Given the description of an element on the screen output the (x, y) to click on. 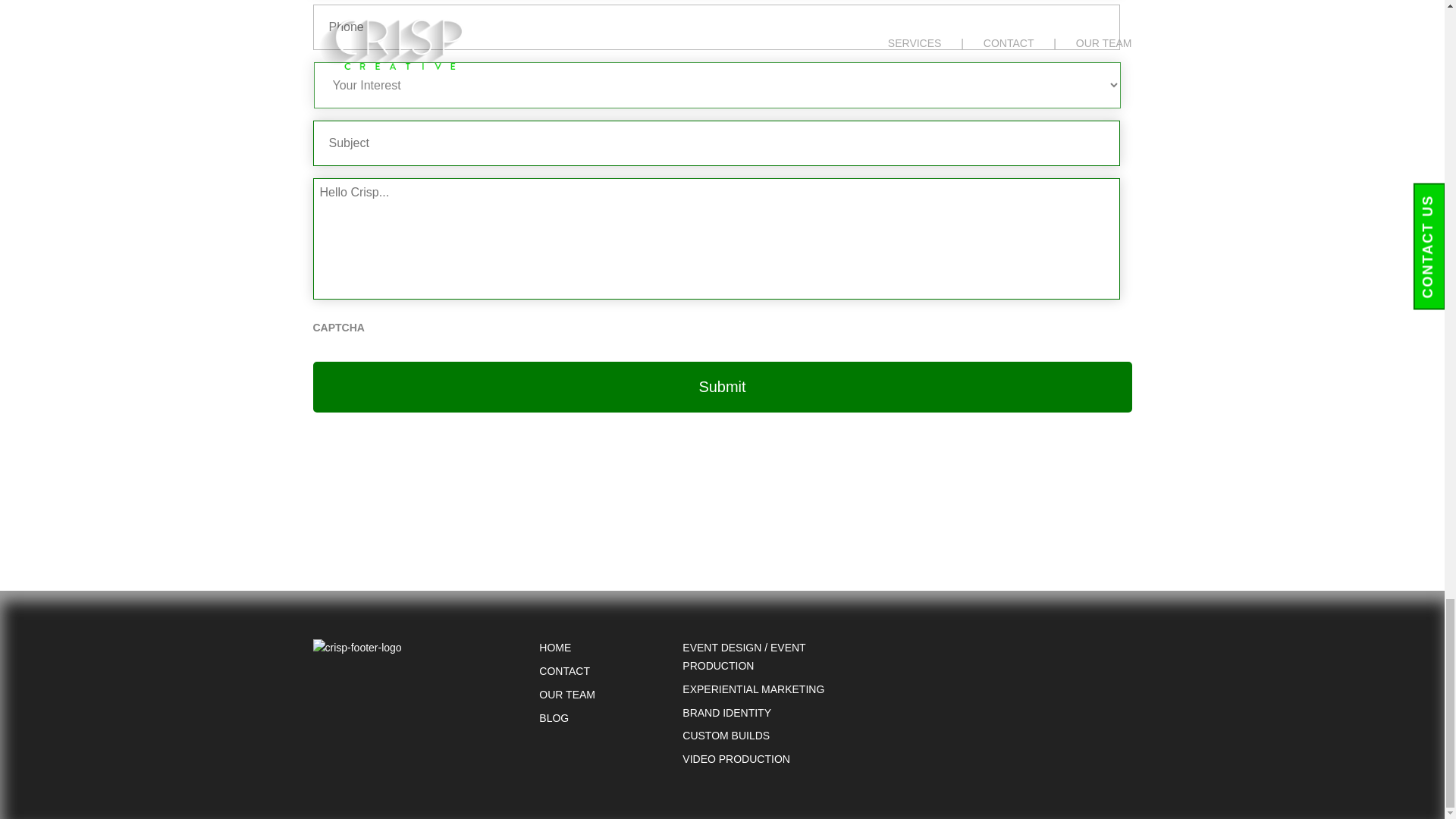
Submit (722, 386)
